Given the description of an element on the screen output the (x, y) to click on. 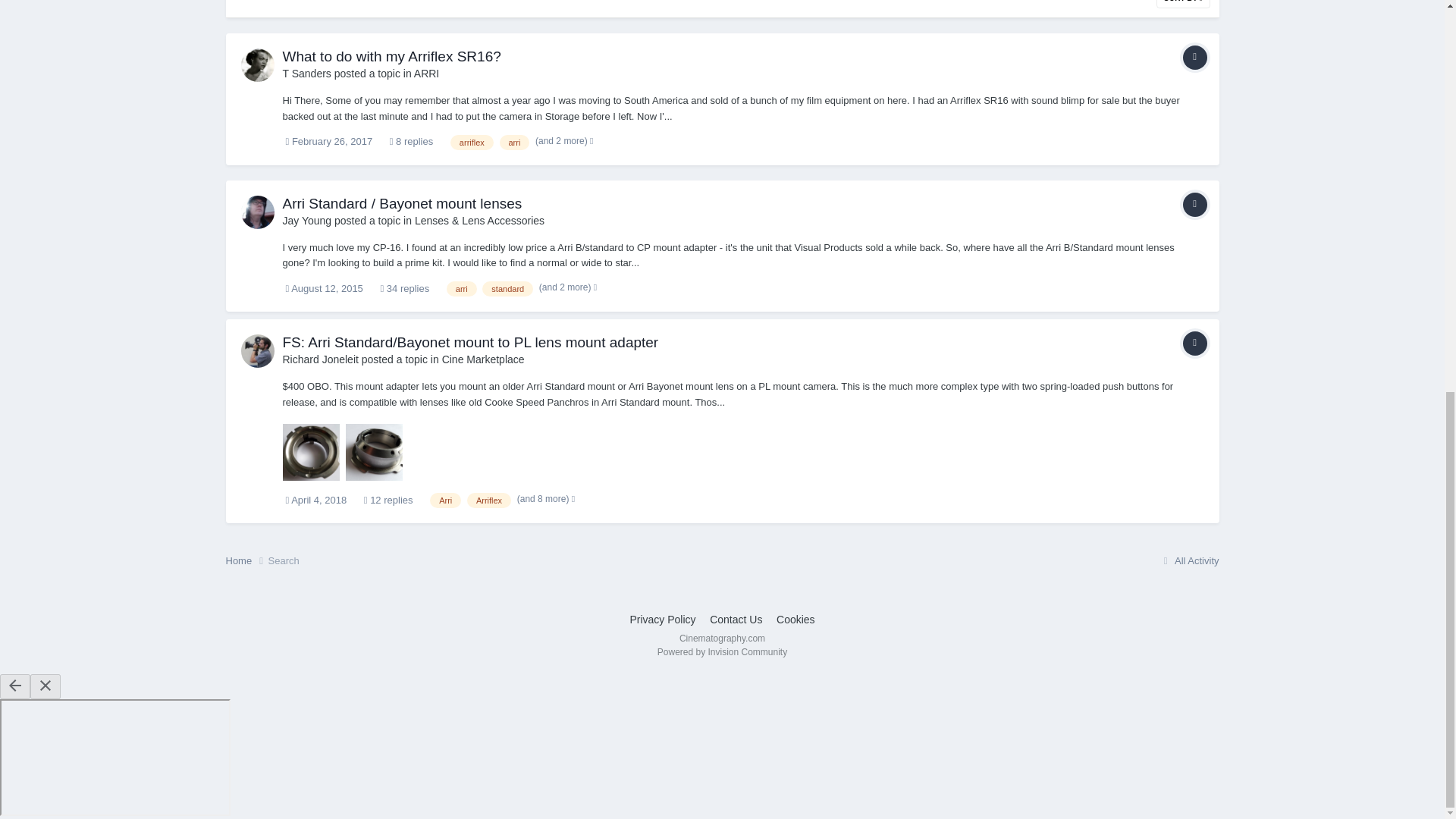
Find other content tagged with 'arri' (514, 142)
Find other content tagged with 'arriflex' (471, 142)
Topic (1194, 57)
Topic (1194, 204)
Go to T Sanders's profile (258, 64)
Go to Jay Young's profile (258, 212)
Go to T Sanders's profile (306, 73)
Go to Jay Young's profile (306, 220)
